Given the description of an element on the screen output the (x, y) to click on. 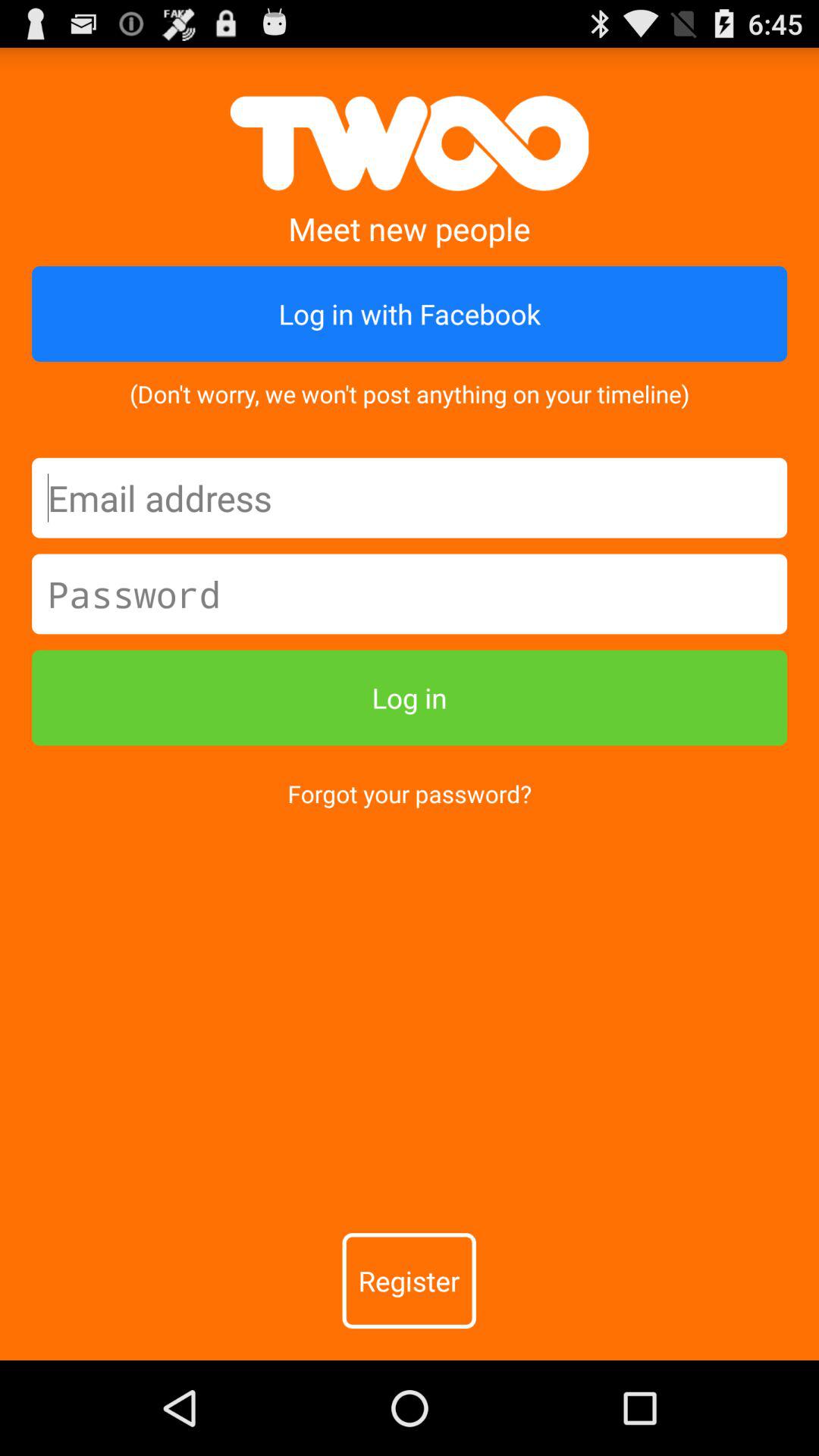
click item above the register item (409, 793)
